Given the description of an element on the screen output the (x, y) to click on. 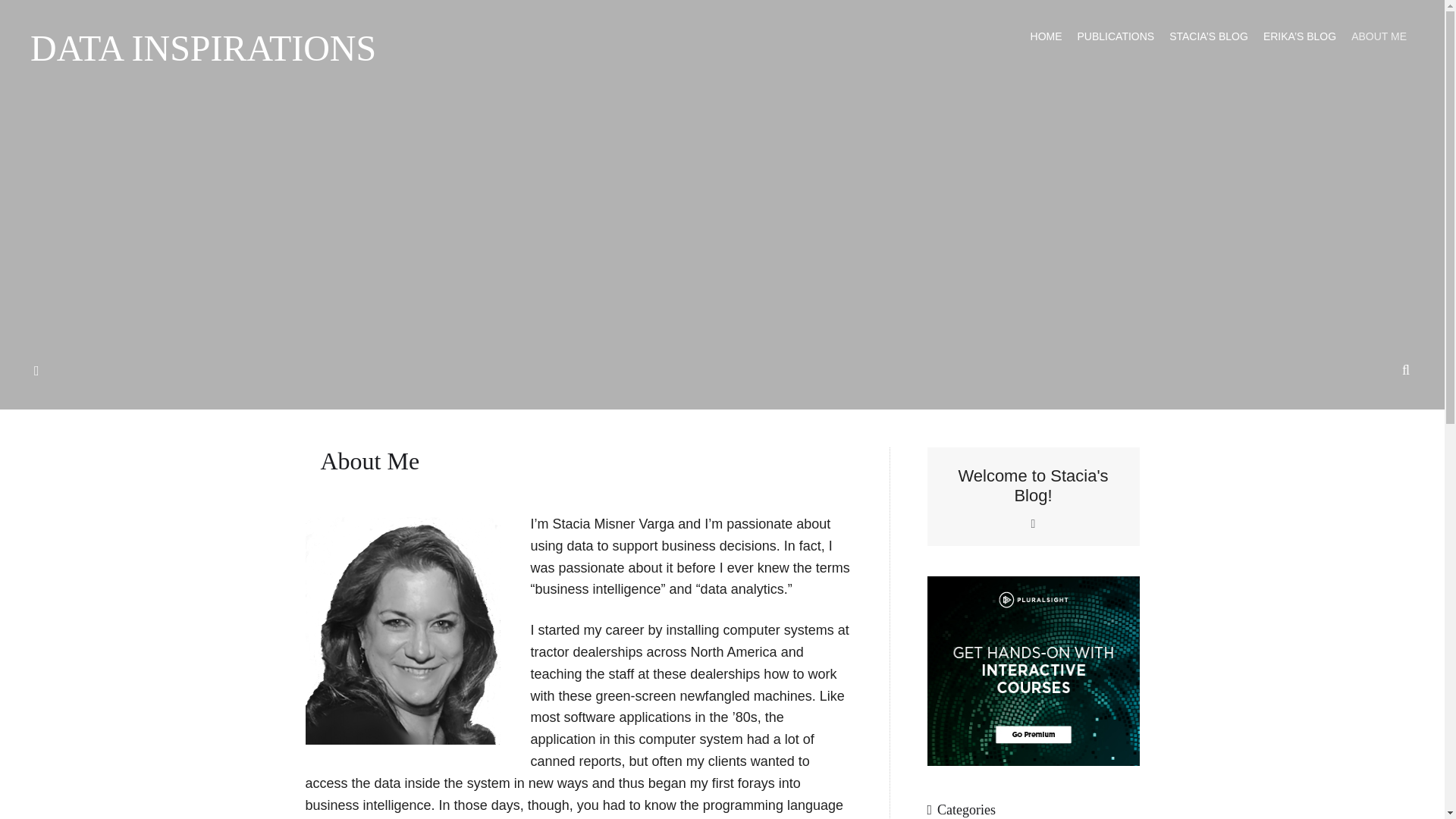
DATA INSPIRATIONS (202, 48)
HOME (1046, 36)
PUBLICATIONS (1115, 36)
ABOUT ME (1378, 36)
